Given the description of an element on the screen output the (x, y) to click on. 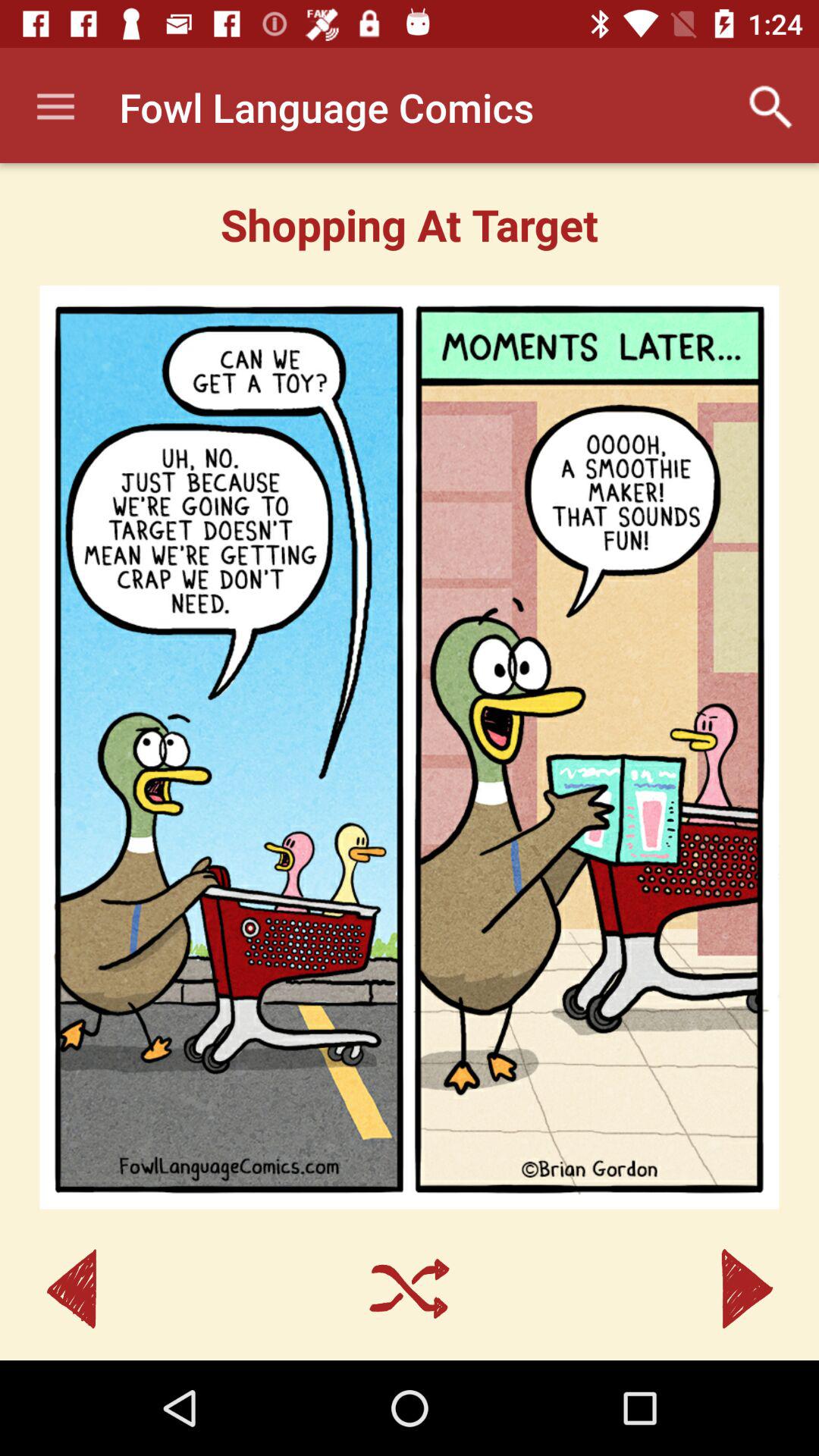
turn on icon next to the fowl language comics item (55, 107)
